Given the description of an element on the screen output the (x, y) to click on. 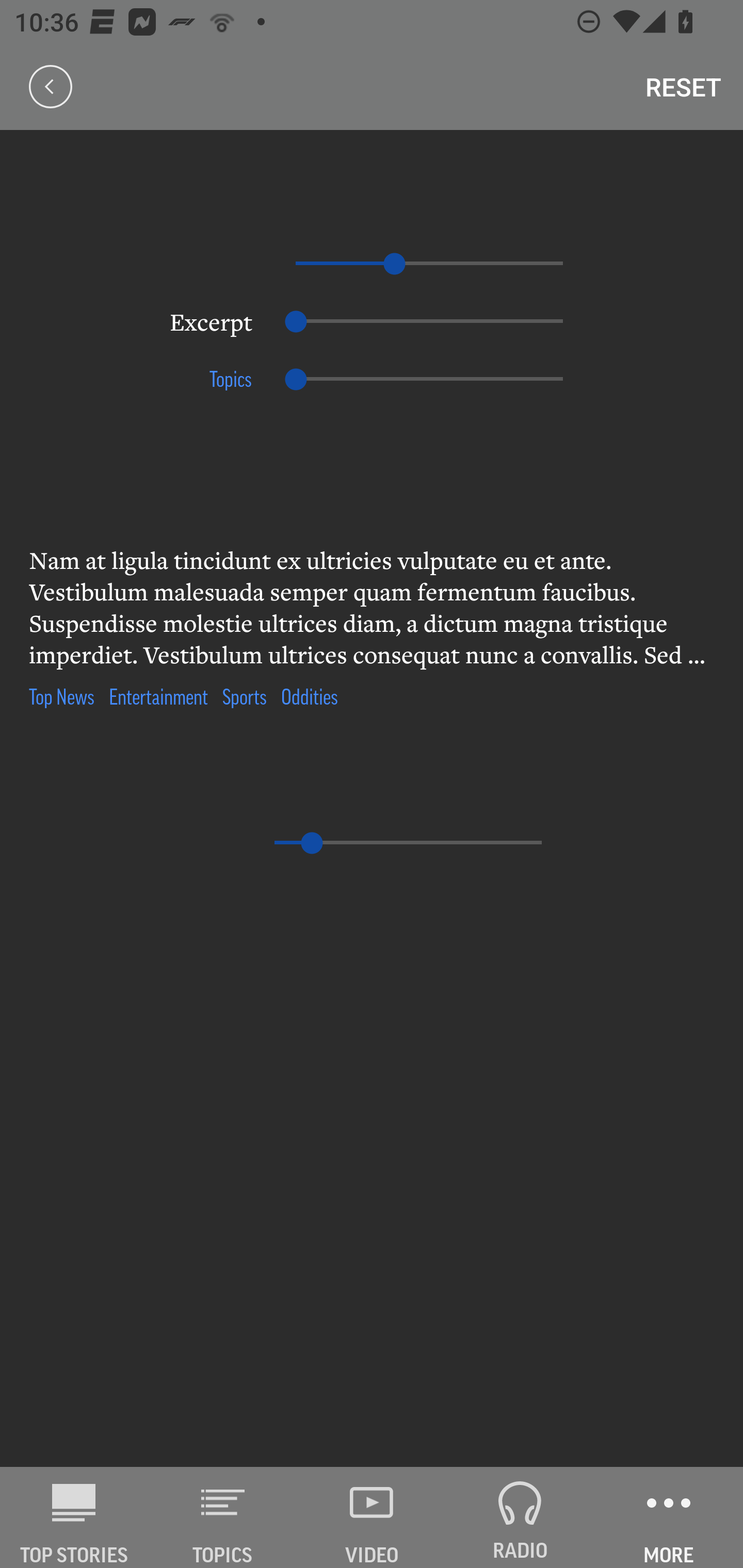
RESET (683, 86)
AP News TOP STORIES (74, 1517)
TOPICS (222, 1517)
VIDEO (371, 1517)
RADIO (519, 1517)
MORE (668, 1517)
